Given the description of an element on the screen output the (x, y) to click on. 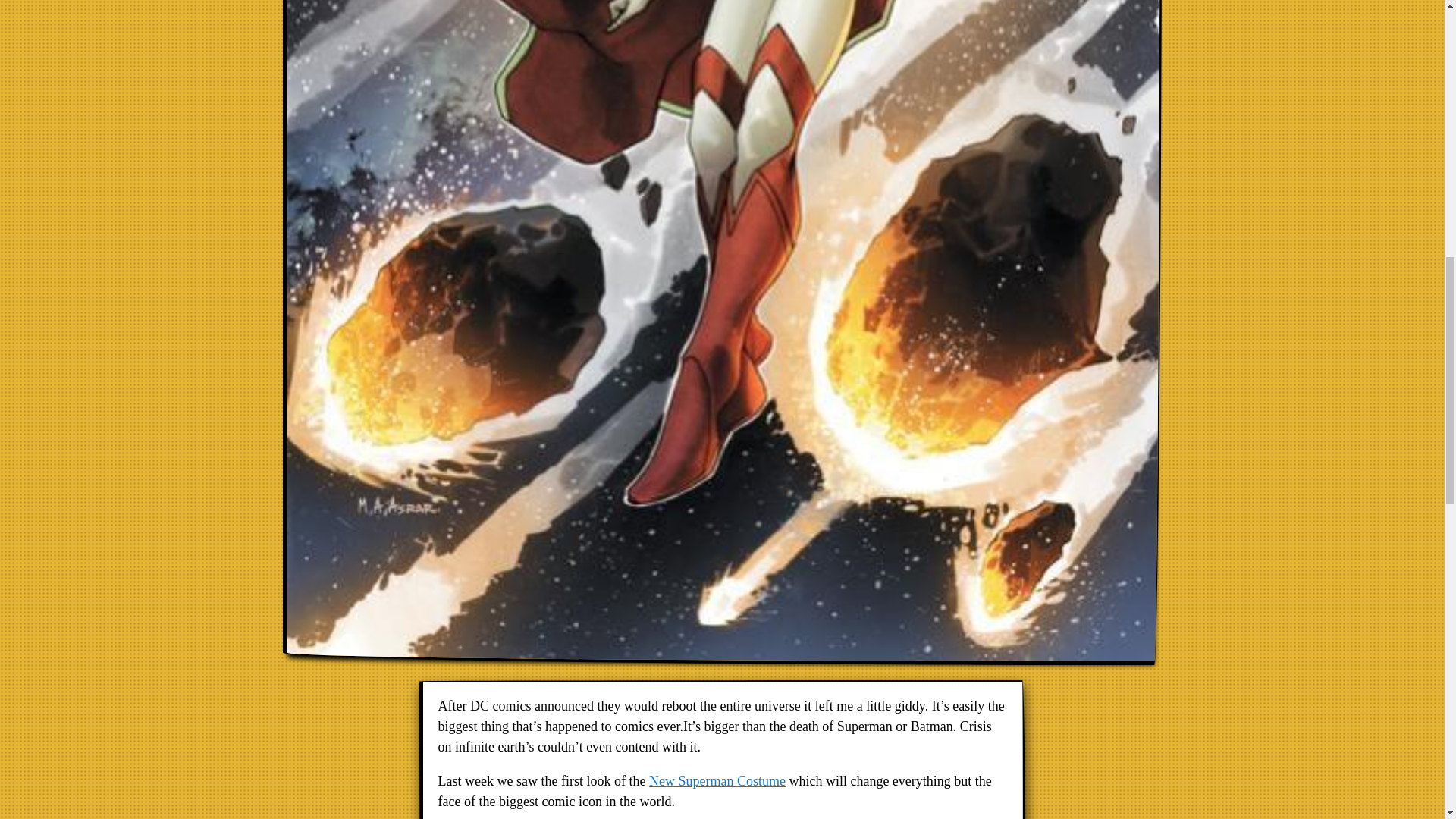
New Superman Costume (717, 780)
New Superman Costume (717, 780)
